Given the description of an element on the screen output the (x, y) to click on. 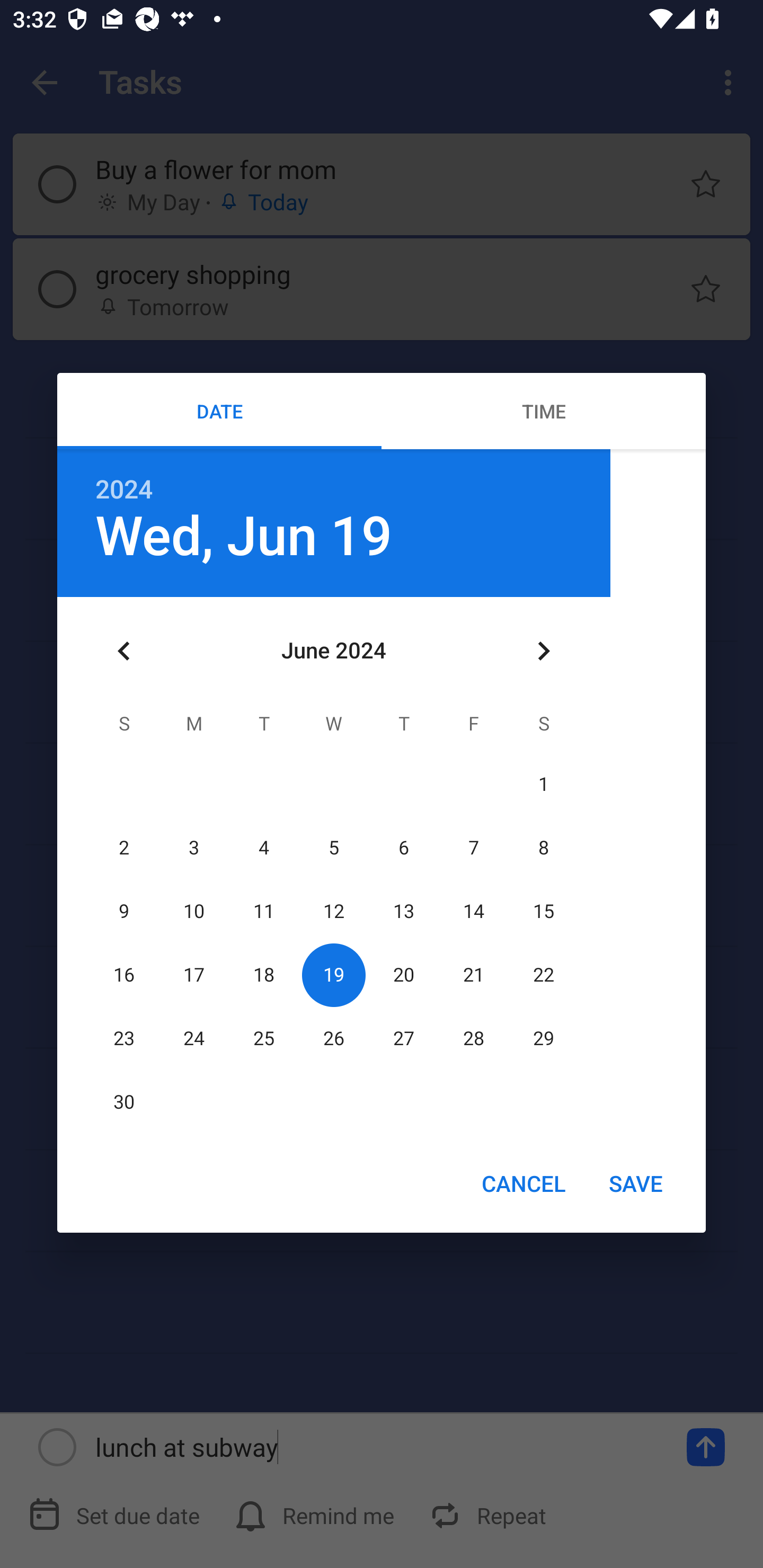
Time TIME (543, 410)
